Given the description of an element on the screen output the (x, y) to click on. 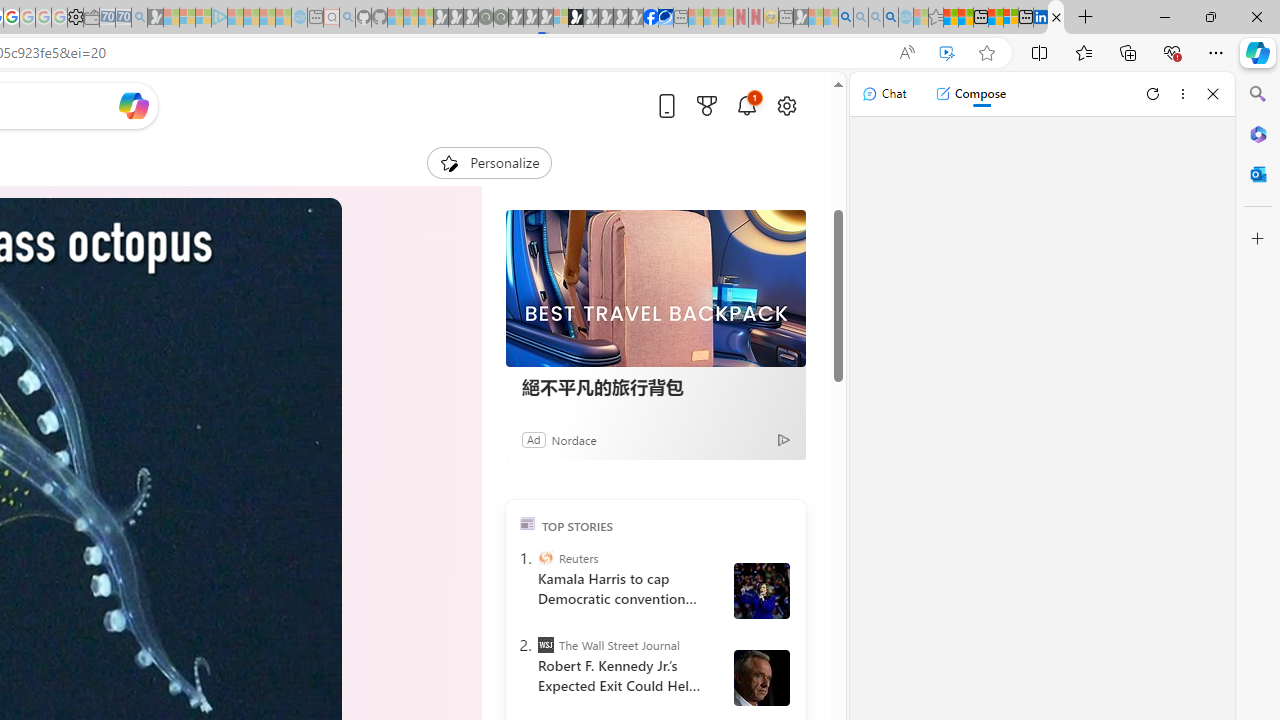
Compose (970, 93)
Reuters (545, 557)
Bing Real Estate - Home sales and rental listings - Sleeping (139, 17)
Class: at-item inline-watch (310, 154)
More (310, 154)
AQI & Health | AirNow.gov (666, 17)
